Given the description of an element on the screen output the (x, y) to click on. 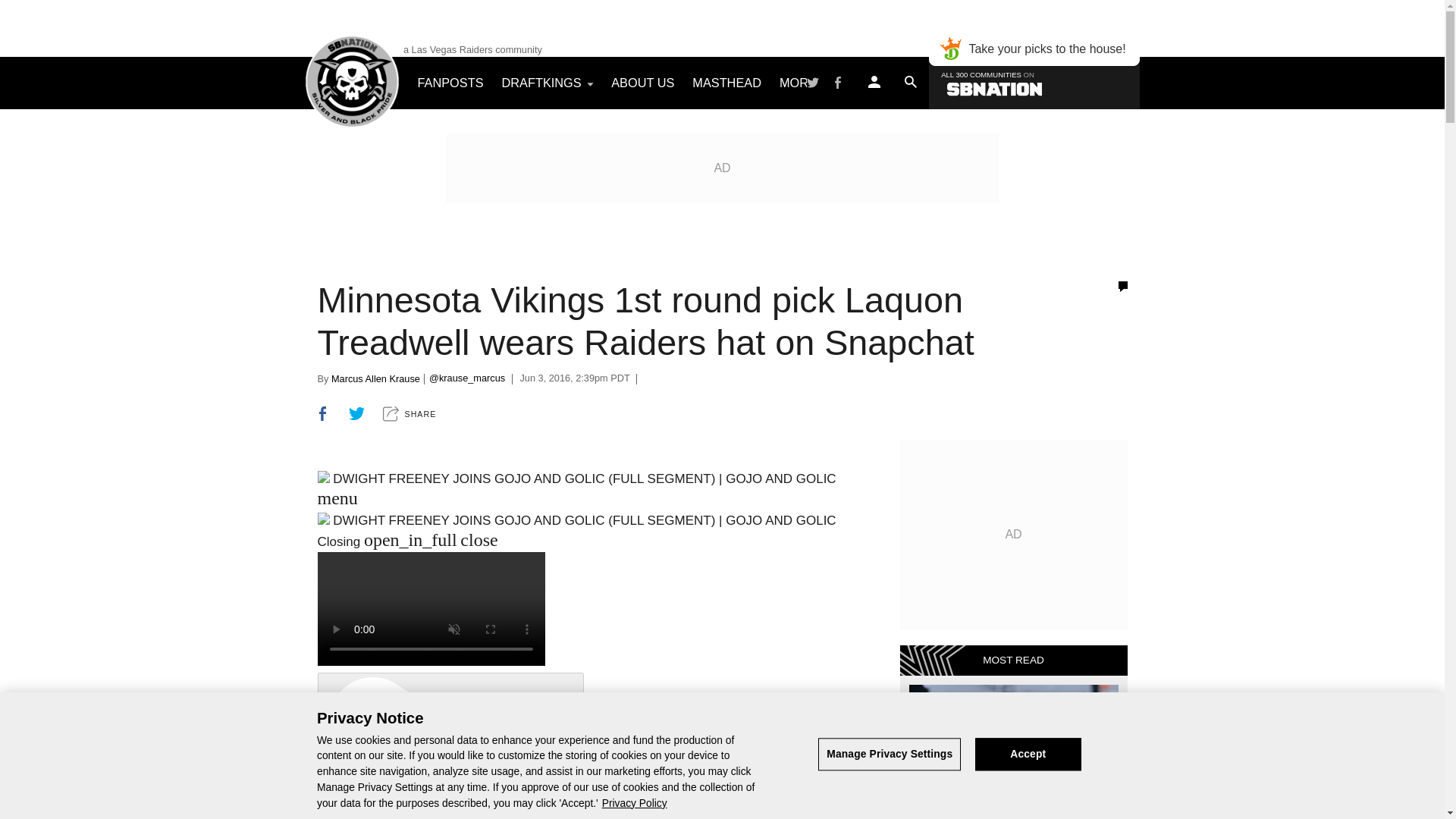
MORE (803, 82)
ABOUT US (642, 82)
FANPOSTS (449, 82)
ALL 300 COMMUNITIES ON HORIZONTAL - WHITE (1033, 82)
Take your picks to the house! (1033, 48)
Marcus Allen Krause (375, 378)
Share this on Facebook (323, 413)
Search (1061, 134)
DRAFTKINGS (547, 82)
MASTHEAD (726, 82)
